Given the description of an element on the screen output the (x, y) to click on. 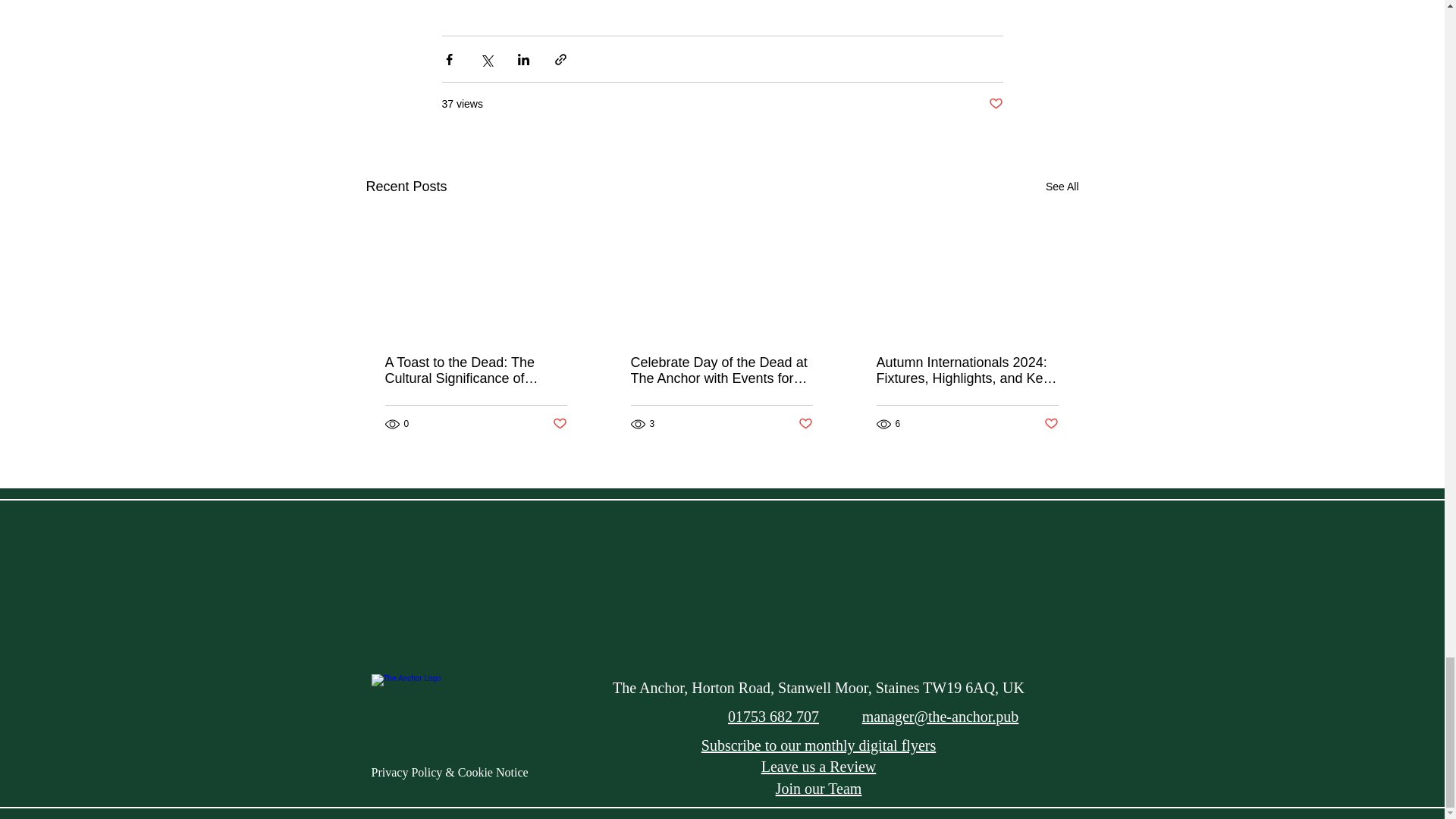
Post not marked as liked (558, 424)
Post not marked as liked (804, 424)
Post not marked as liked (995, 104)
Leave us a Review (818, 765)
01753 682 707 (773, 715)
Post not marked as liked (1050, 424)
See All (1061, 187)
Subscribe to our monthly digital flyers (818, 745)
